Given the description of an element on the screen output the (x, y) to click on. 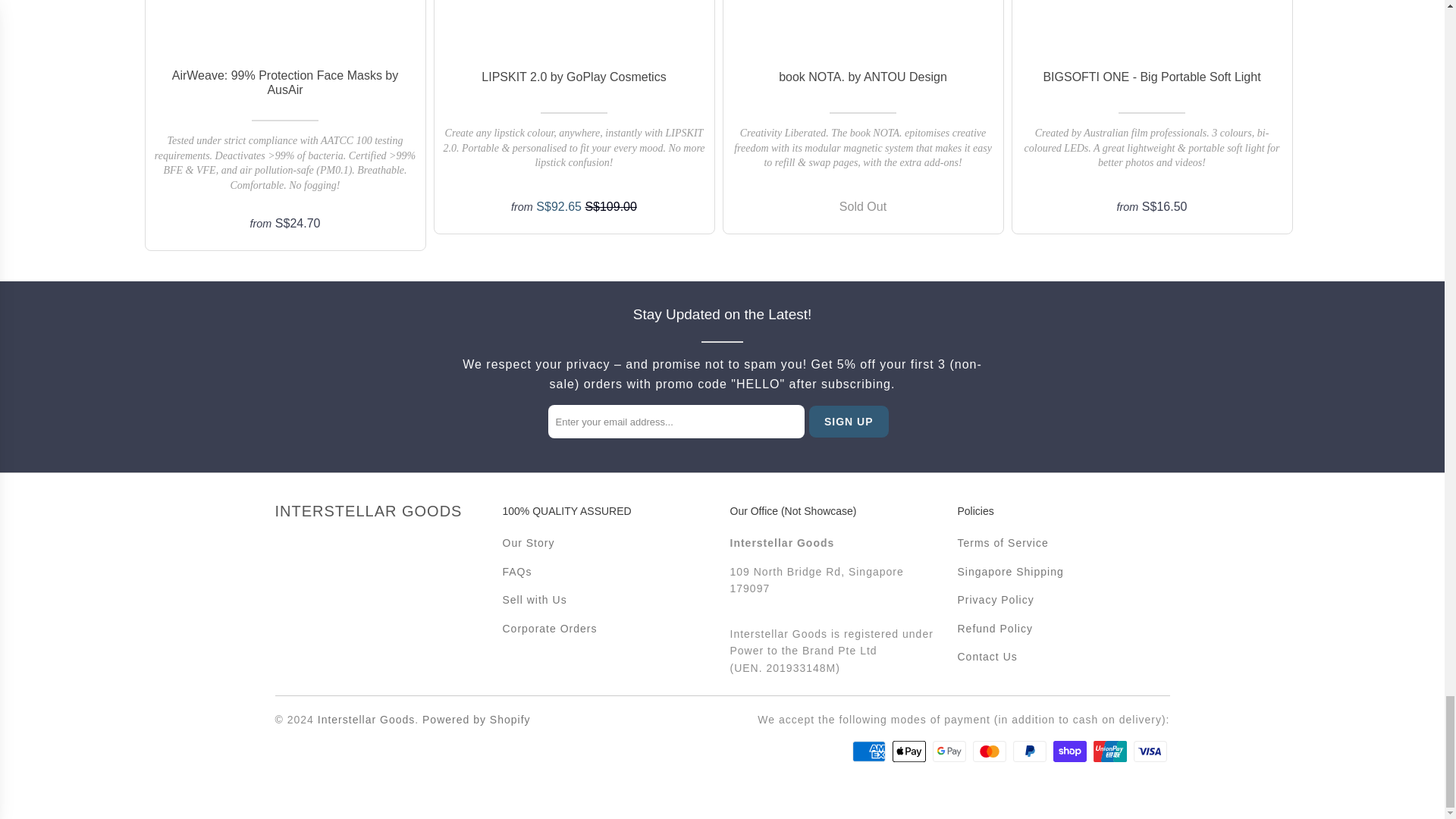
Apple Pay (910, 751)
Visa (1150, 751)
Sign Up (848, 421)
Shop Pay (1070, 751)
Google Pay (951, 751)
Mastercard (990, 751)
American Express (869, 751)
Union Pay (1111, 751)
PayPal (1031, 751)
